Given the description of an element on the screen output the (x, y) to click on. 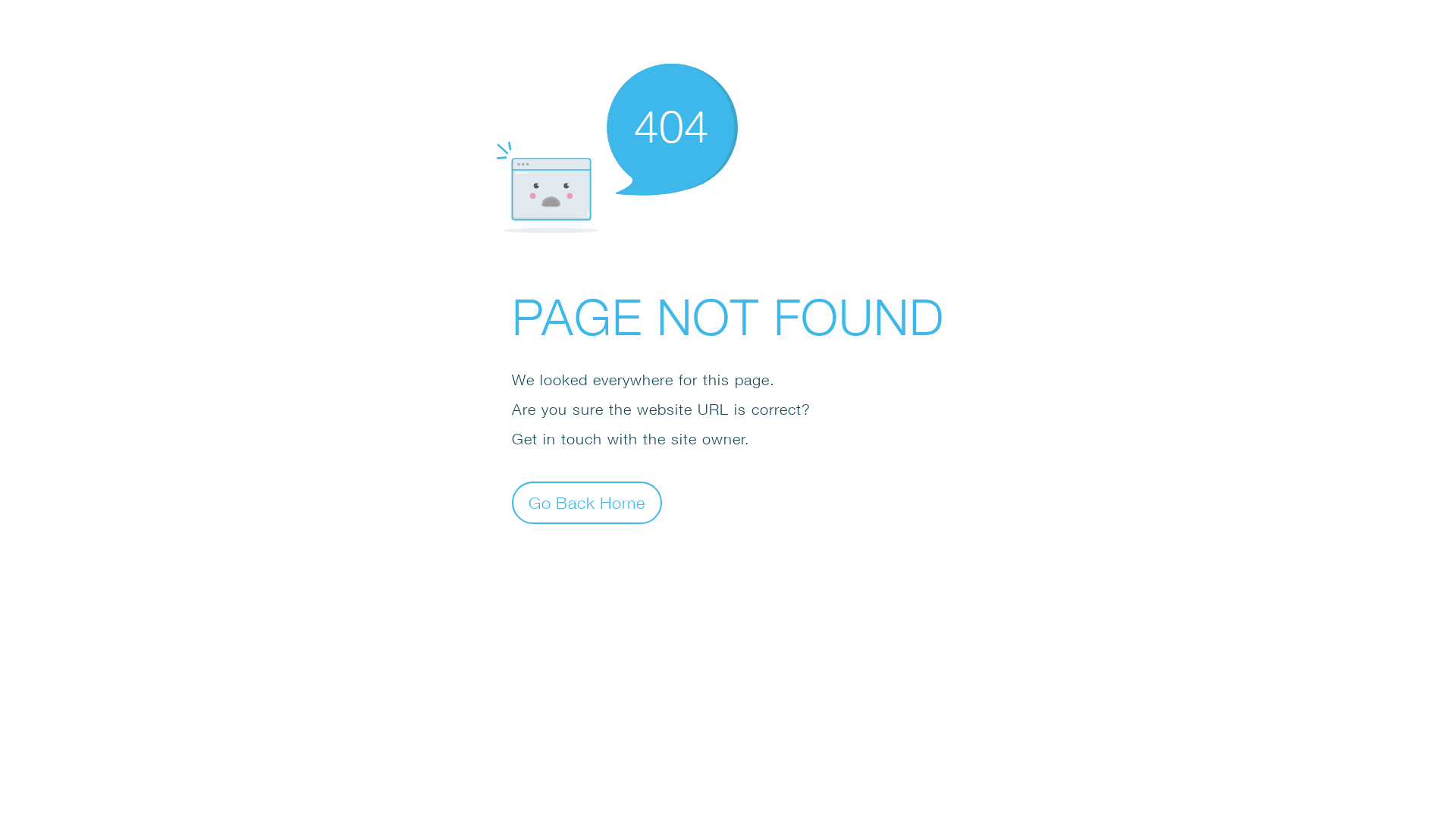
Go Back Home Element type: text (586, 502)
